Given the description of an element on the screen output the (x, y) to click on. 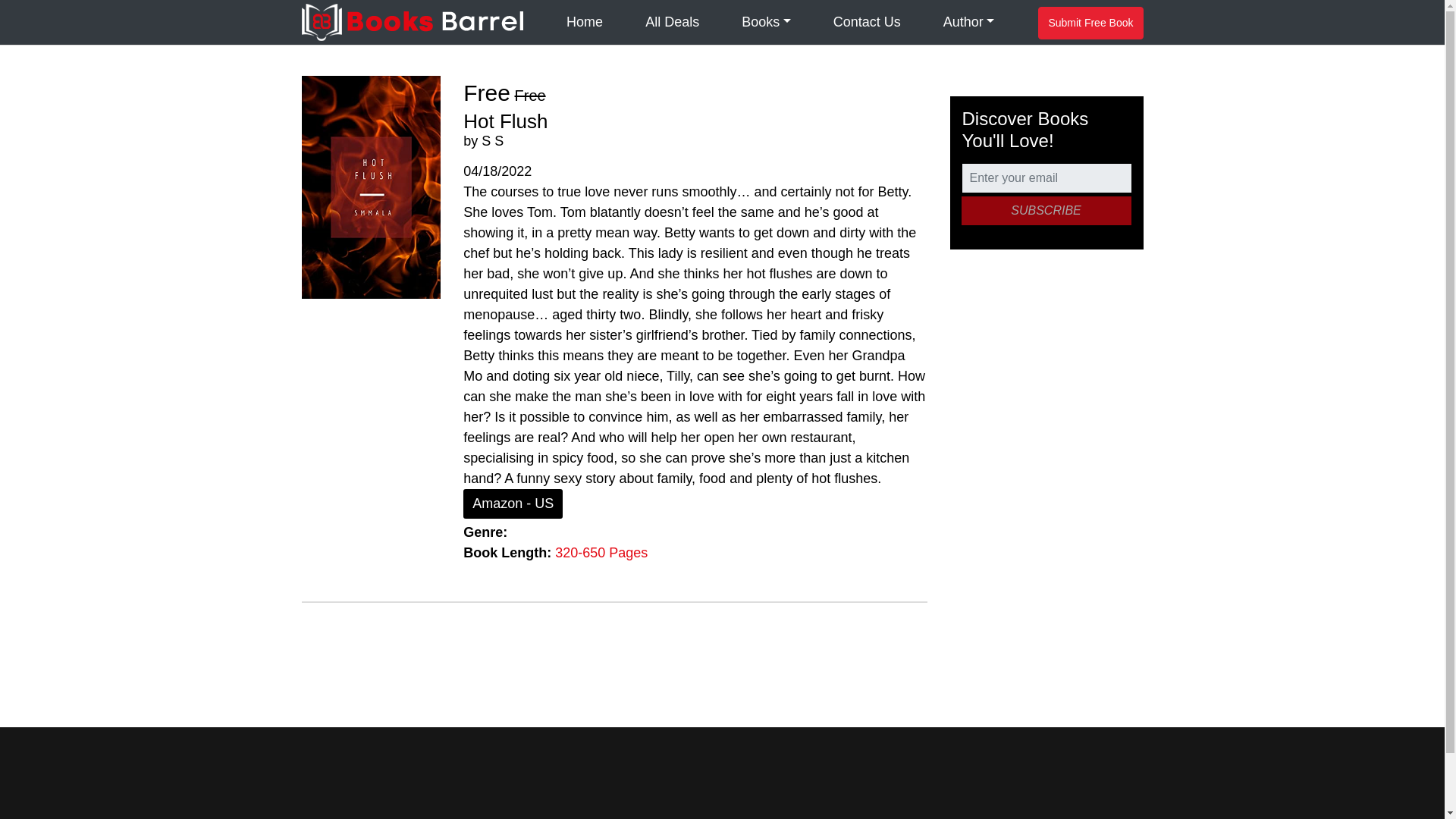
Books (766, 22)
Submit Free Book (1090, 22)
Hot Flush (505, 120)
Contact Us (866, 22)
320-650 Pages (600, 552)
Amazon - US (512, 503)
Subscribe (1045, 210)
Home (584, 22)
Subscribe (1045, 210)
Author (969, 22)
All Deals (672, 22)
